Given the description of an element on the screen output the (x, y) to click on. 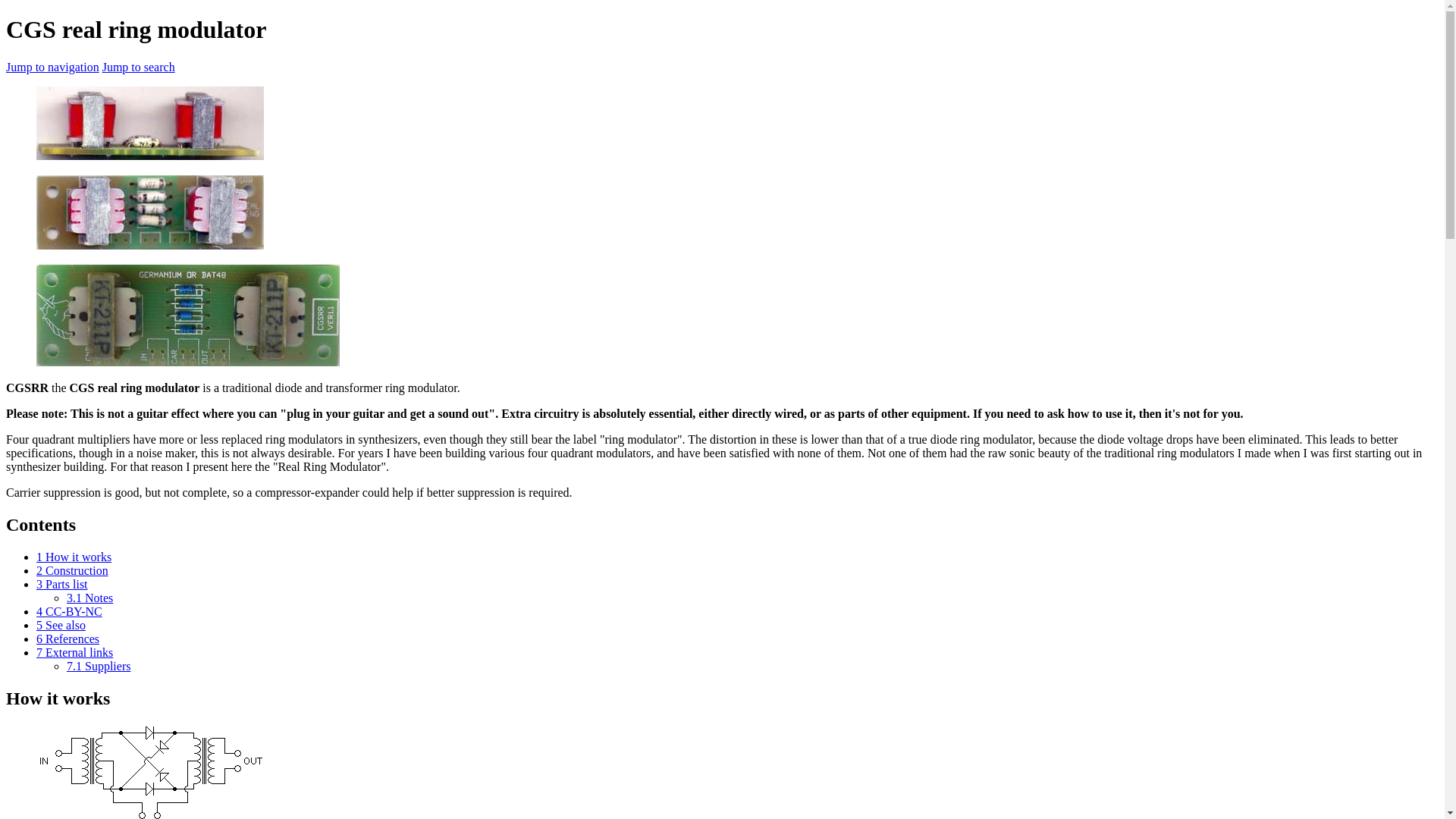
5 See also (60, 625)
6 References (67, 638)
3.1 Notes (89, 597)
4 CC-BY-NC (68, 611)
1 How it works (74, 556)
2 Construction (71, 570)
7.1 Suppliers (98, 666)
Jump to search (137, 66)
3 Parts list (61, 584)
7 External links (74, 652)
